Given the description of an element on the screen output the (x, y) to click on. 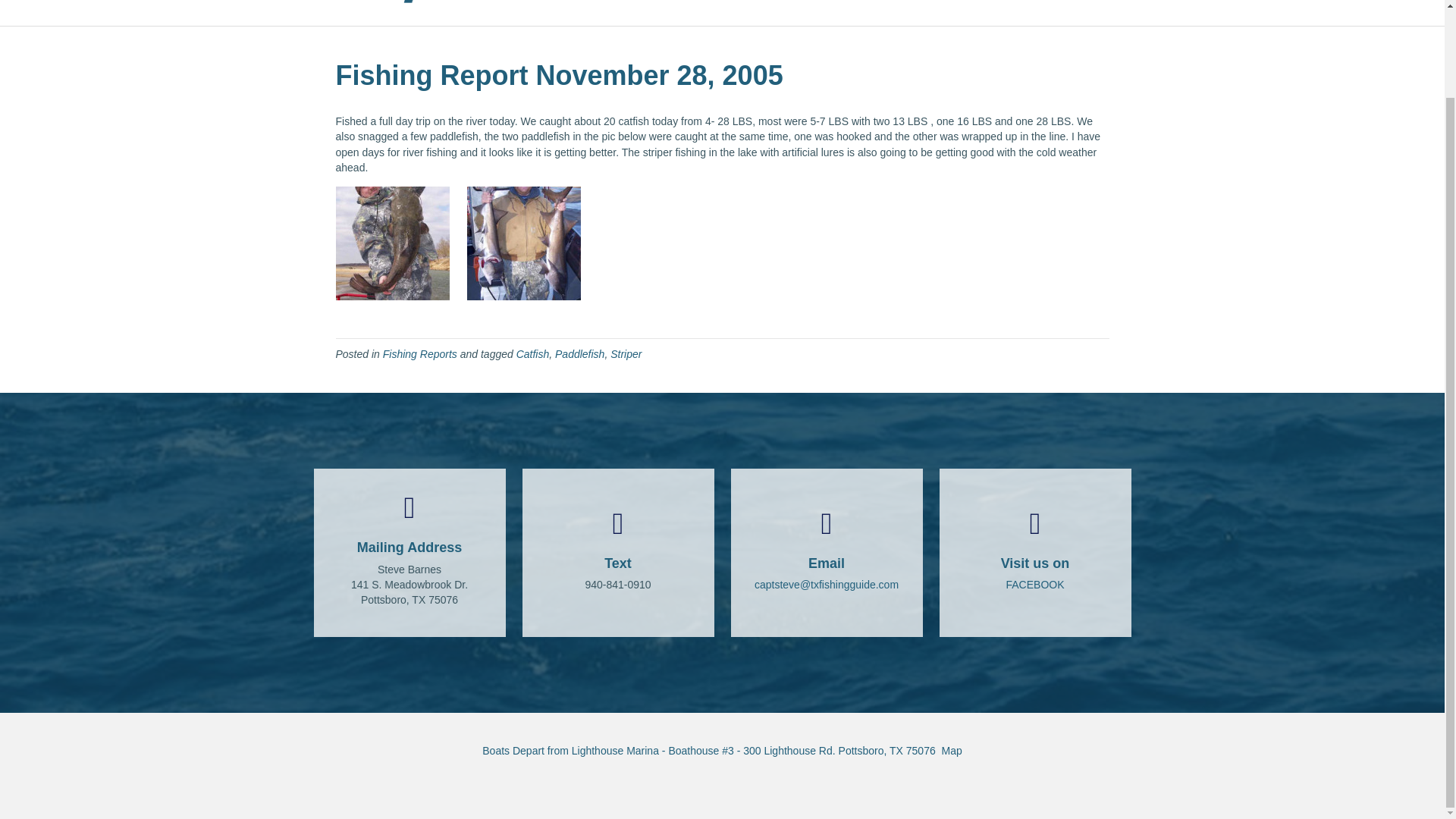
FACEBOOK (1035, 584)
Catfish (533, 354)
Fishing Reports (419, 354)
Striper (626, 354)
Paddlefish (579, 354)
Map (952, 750)
